Given the description of an element on the screen output the (x, y) to click on. 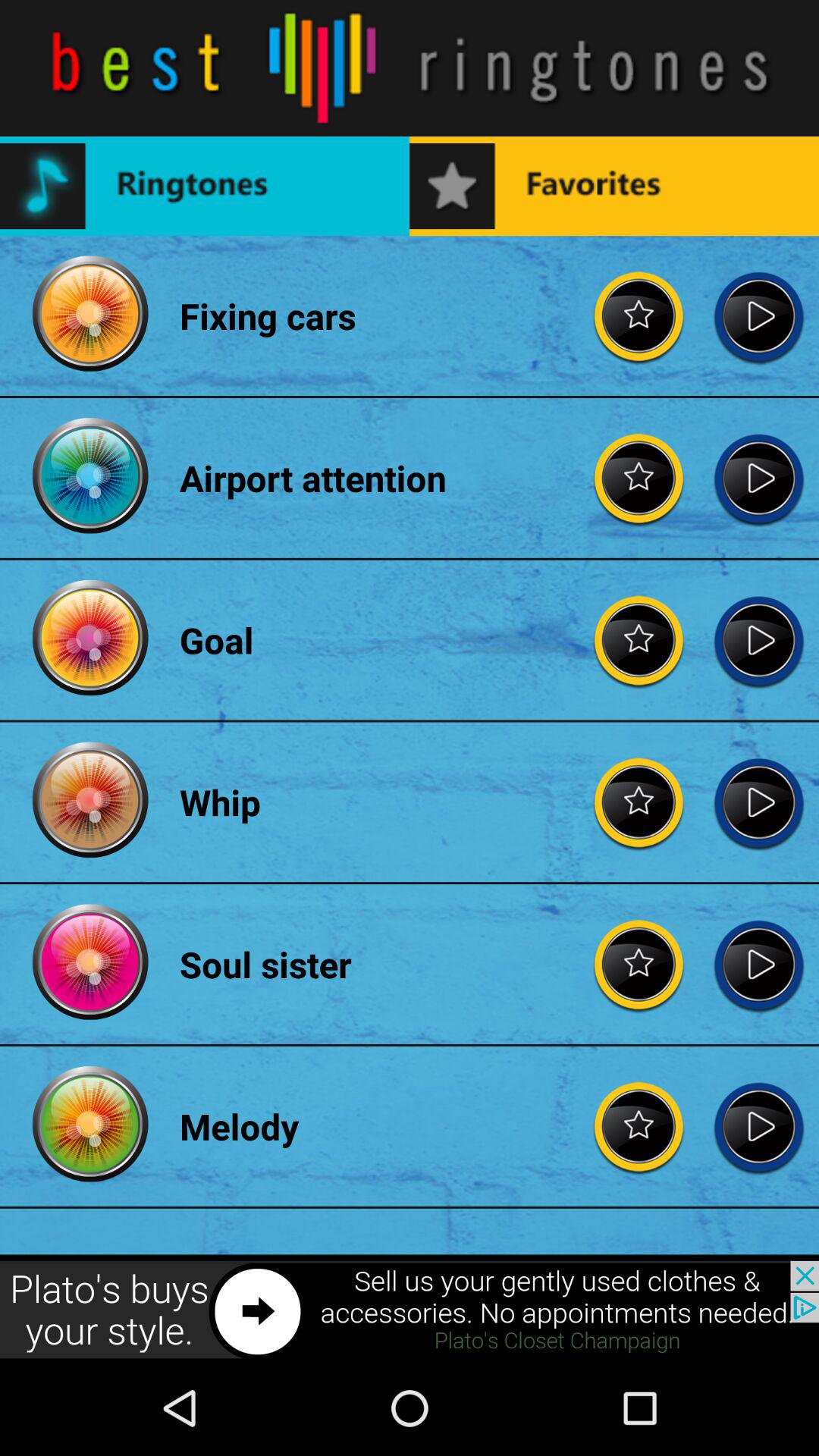
select as favourite (639, 315)
